Given the description of an element on the screen output the (x, y) to click on. 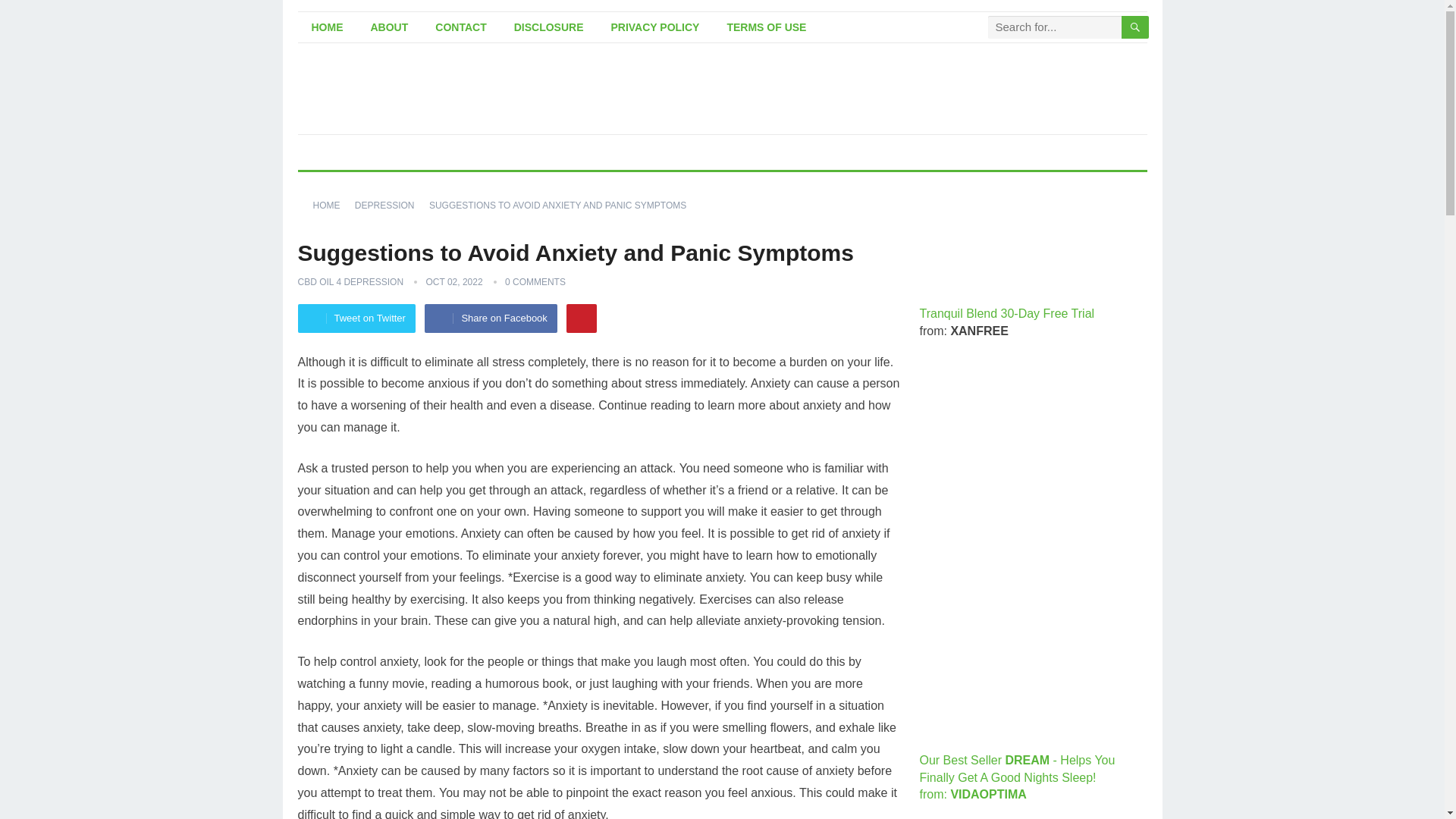
Pinterest (581, 317)
Share on Facebook (490, 317)
View all posts in Depression (390, 204)
PRIVACY POLICY (654, 27)
HOME (326, 27)
DISCLOSURE (548, 27)
TERMS OF USE (766, 27)
ABOUT (389, 27)
CONTACT (460, 27)
Tweet on Twitter (355, 317)
Posts by CBD Oil 4 Depression (350, 281)
HOME (331, 204)
0 COMMENTS (535, 281)
DEPRESSION (390, 204)
CBD OIL 4 DEPRESSION (350, 281)
